Given the description of an element on the screen output the (x, y) to click on. 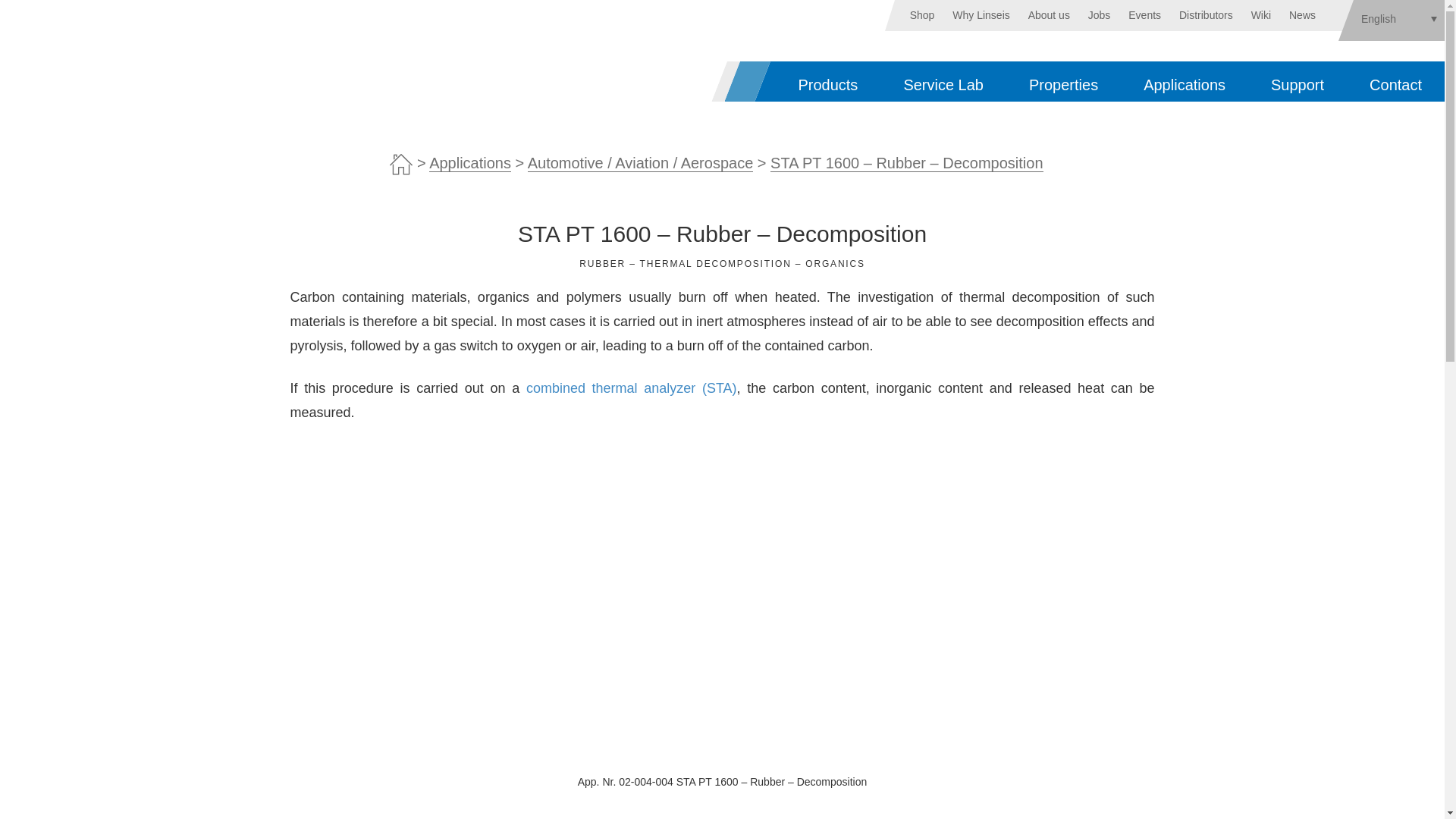
News (1302, 15)
Events (1144, 15)
Why Linseis (980, 15)
Shop (922, 15)
Wiki (1260, 15)
Distributors (1206, 15)
About us (1048, 15)
Gehe zu Applications. (470, 162)
Products (827, 81)
Jobs (1098, 15)
